Given the description of an element on the screen output the (x, y) to click on. 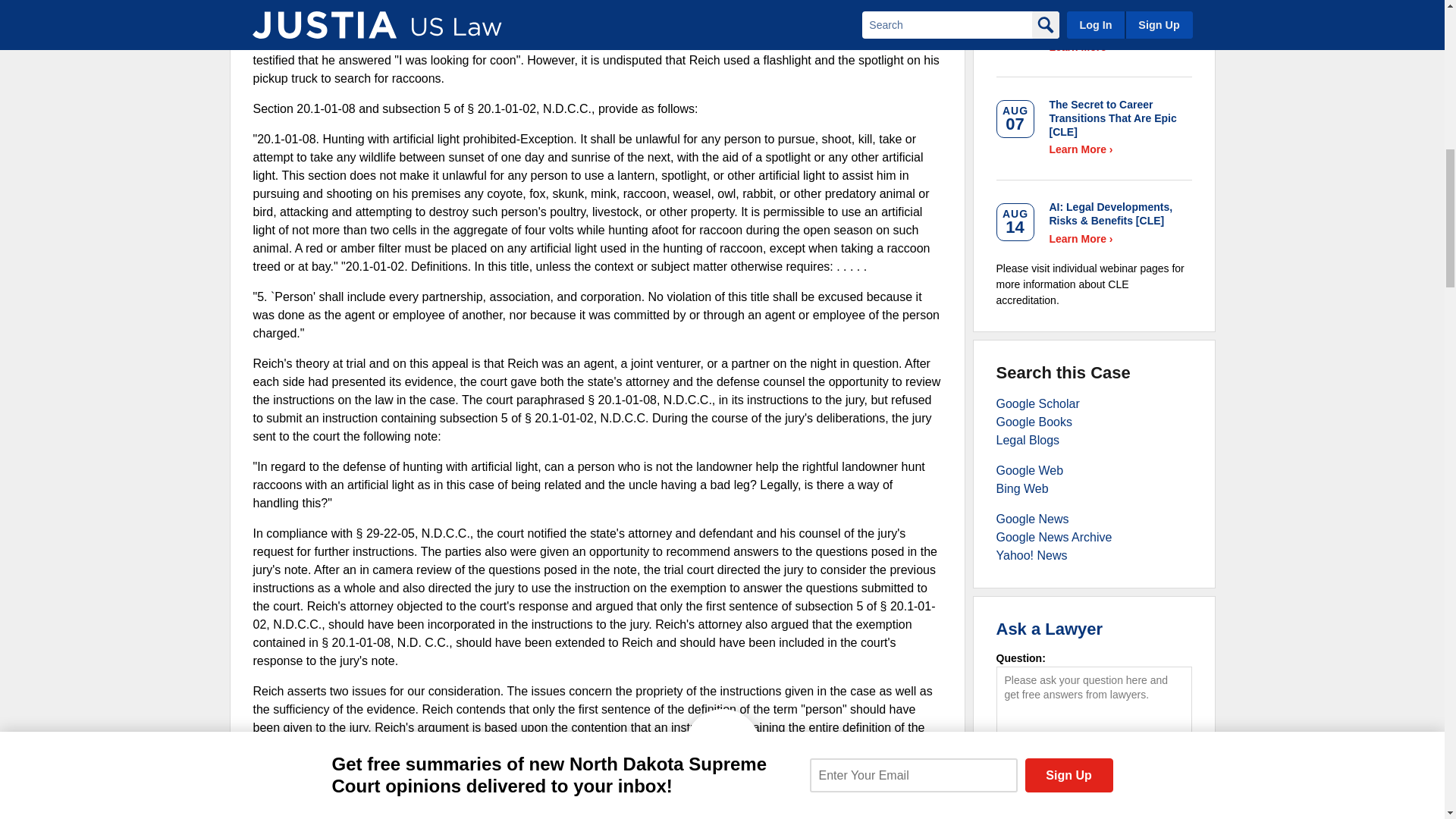
Law - Google Scholar (1037, 403)
Law - Yahoo! News (1031, 554)
Law - Google Web (1029, 470)
Law - Google Books (1034, 421)
Law - Google News (1031, 518)
Law - Legal Blogs (1027, 440)
Law - Google News Archive (1053, 536)
Law - Bing Web (1021, 488)
